Given the description of an element on the screen output the (x, y) to click on. 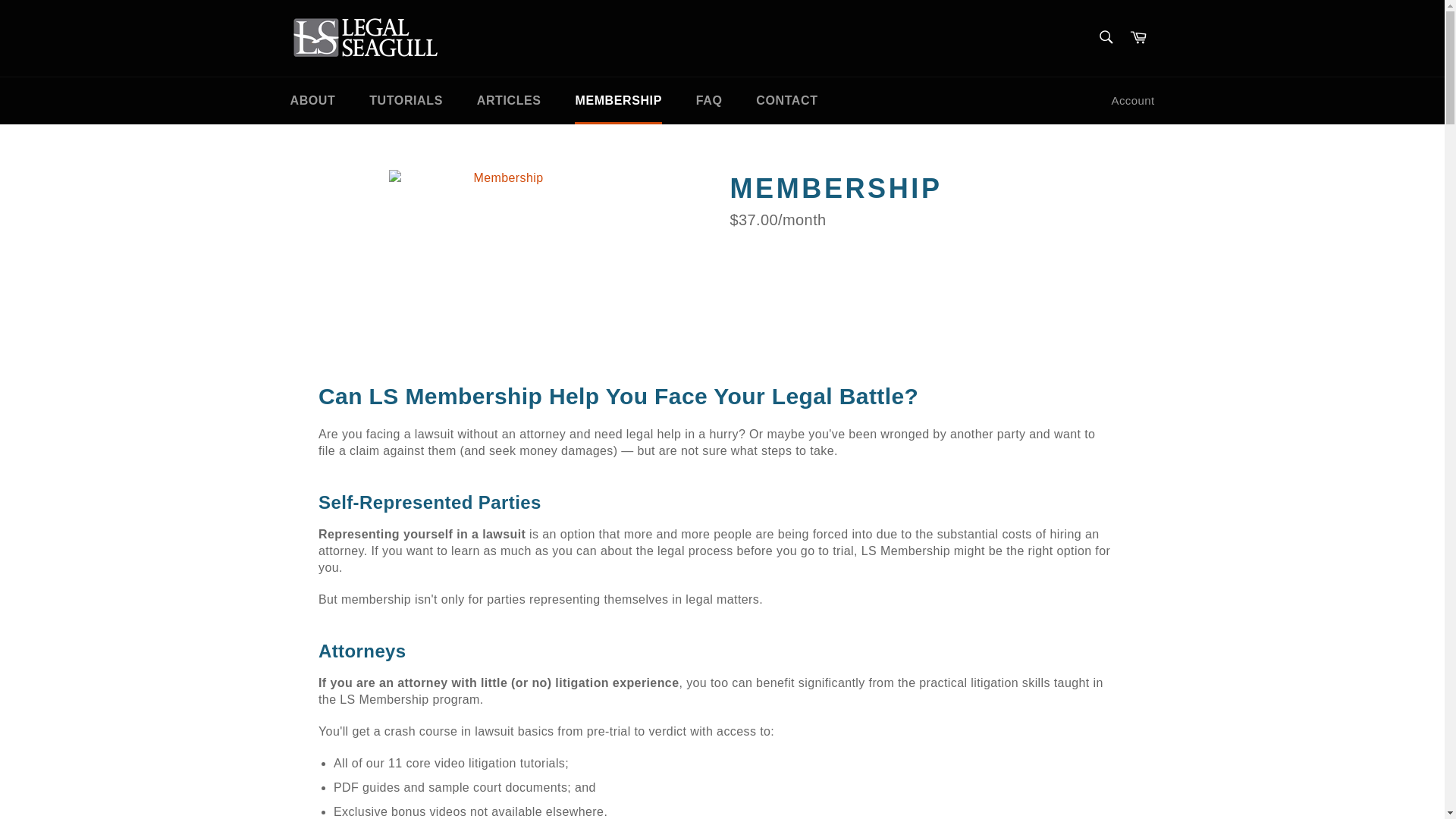
ARTICLES (508, 100)
CONTACT (786, 100)
Search (1104, 37)
FAQ (709, 100)
ABOUT (312, 100)
Account (1132, 100)
MEMBERSHIP (618, 100)
Cart (1138, 38)
TUTORIALS (405, 100)
